Given the description of an element on the screen output the (x, y) to click on. 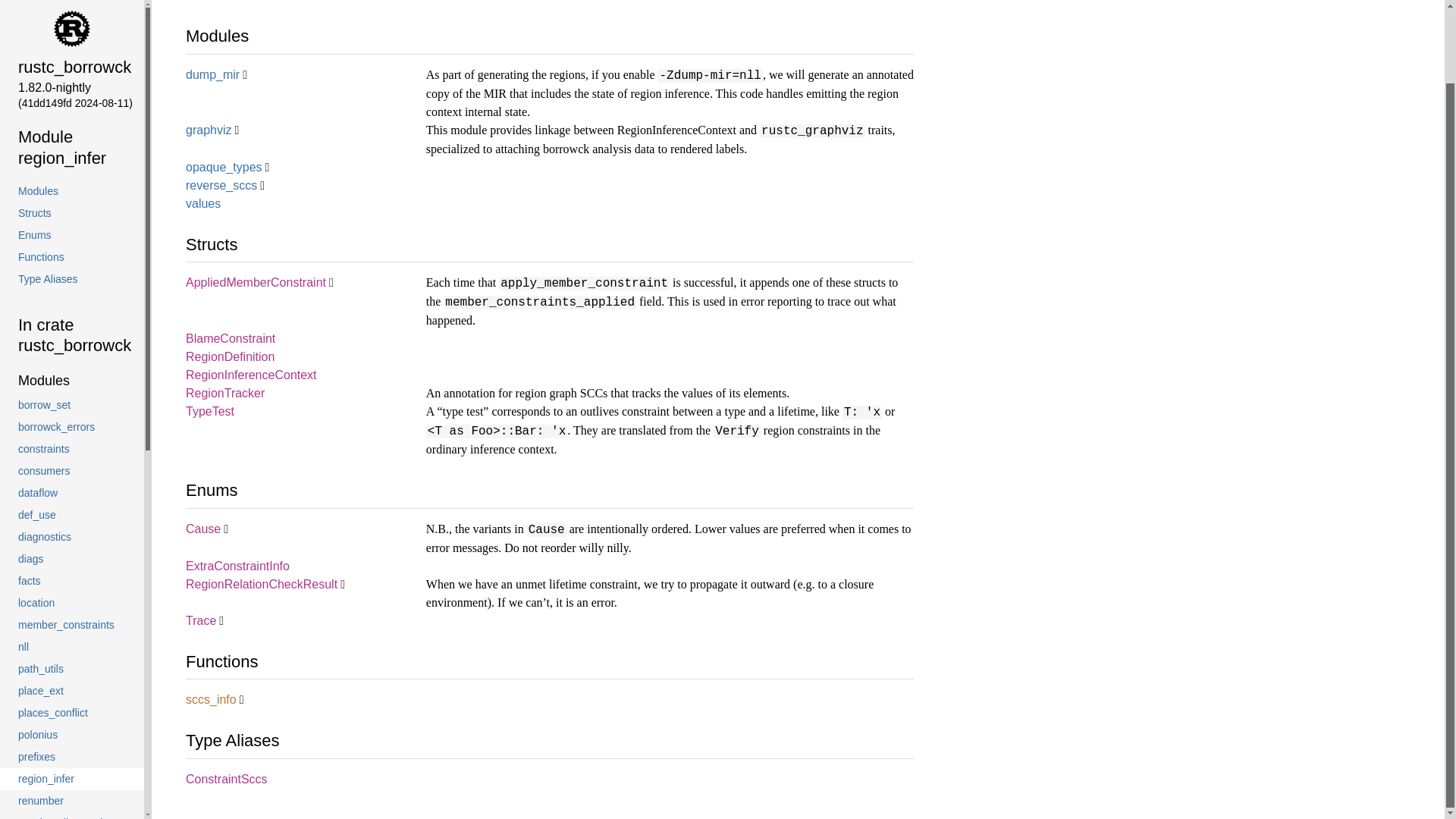
location (70, 522)
prefixes (70, 676)
facts (70, 499)
Enums (70, 154)
Functions (70, 176)
renumber (70, 720)
consumers (70, 390)
diagnostics (70, 455)
dataflow (70, 412)
Modules (70, 299)
